Given the description of an element on the screen output the (x, y) to click on. 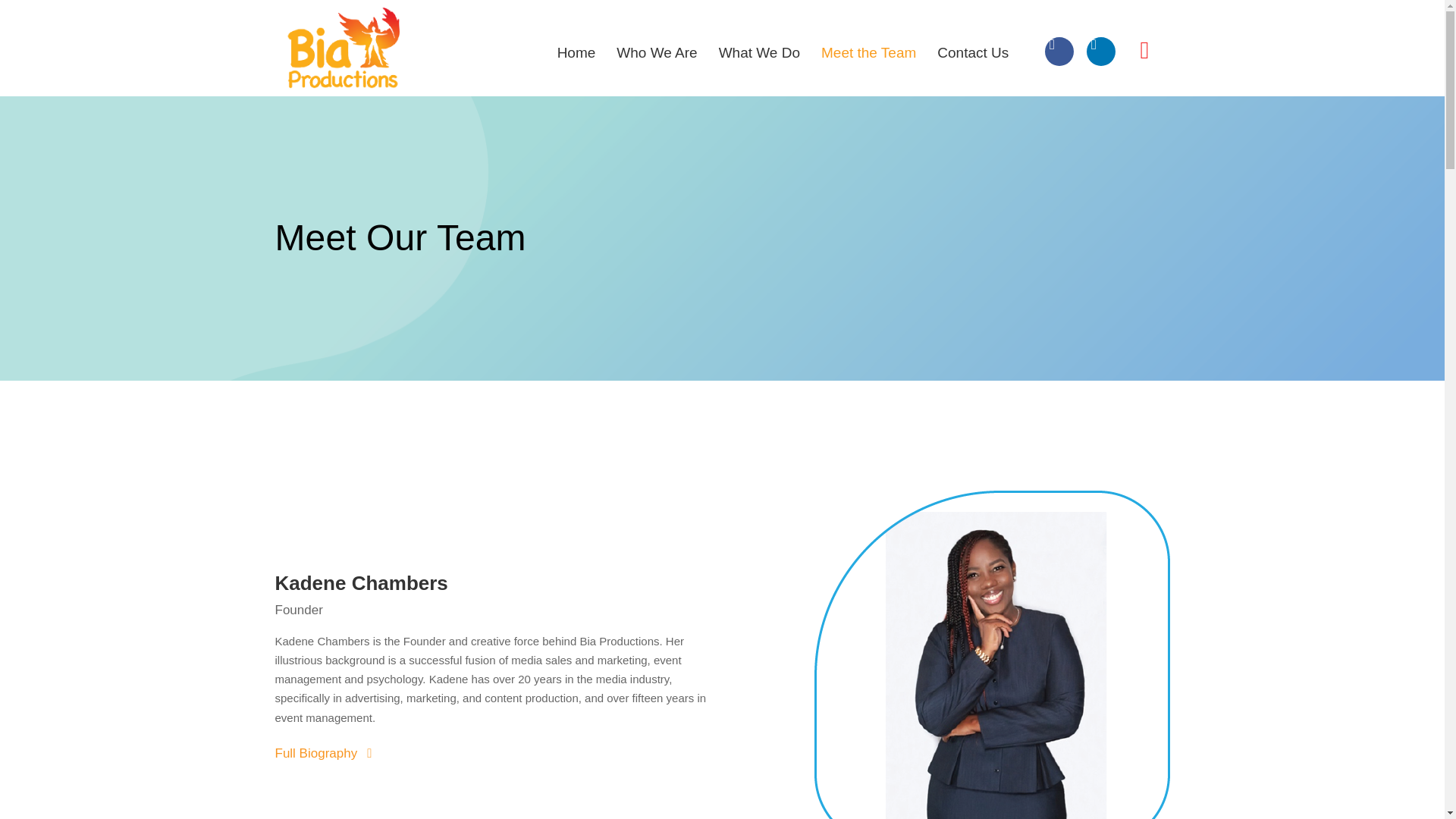
Contact Us (973, 52)
Full Biography (607, 753)
Who We Are (656, 52)
Home (576, 52)
What We Do (759, 52)
Meet the Team (868, 52)
